Given the description of an element on the screen output the (x, y) to click on. 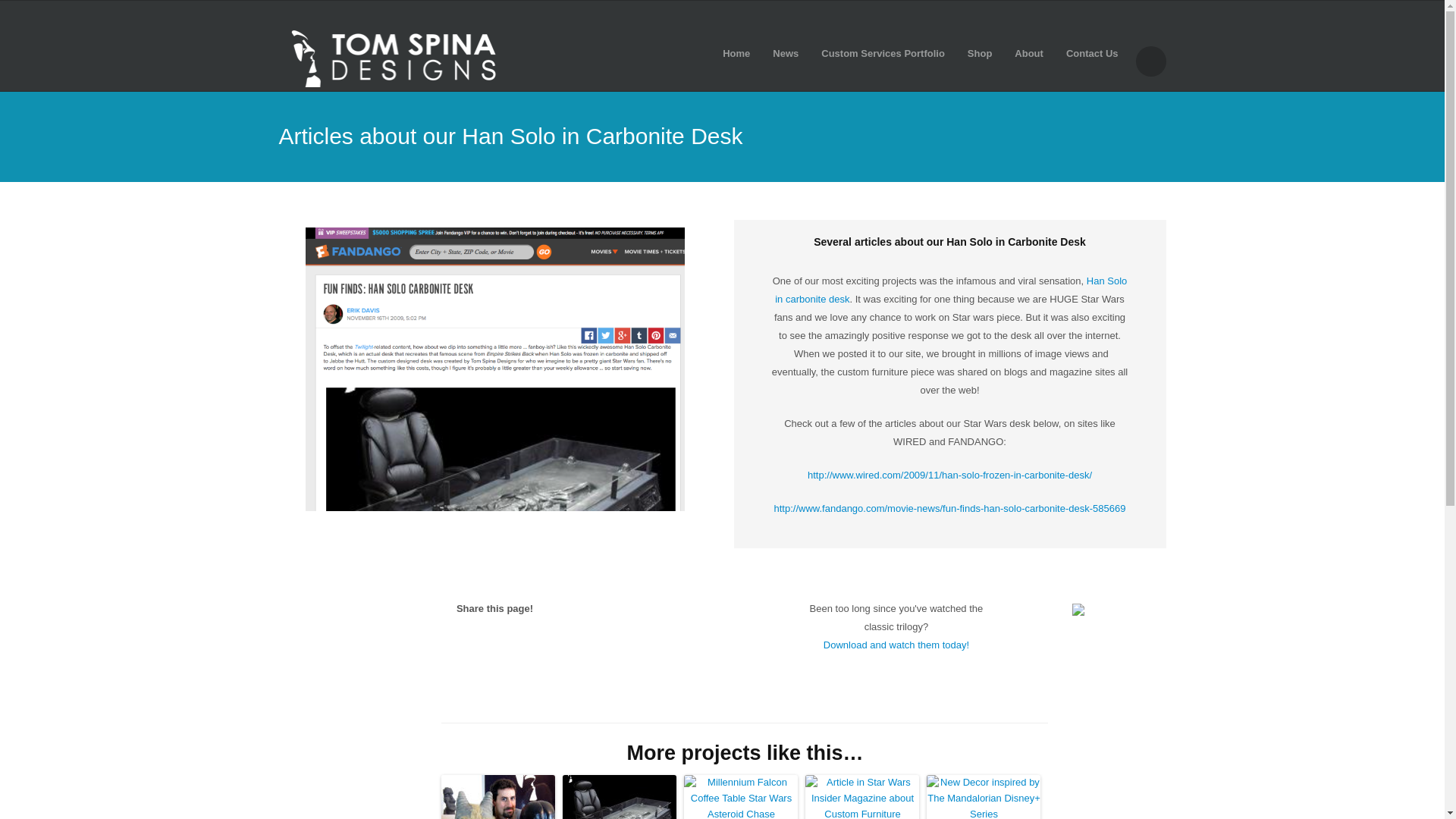
Contact Us (1091, 51)
Download and watch them today! (896, 644)
Custom Services Portfolio (882, 51)
Han Solo in carbonite desk (950, 289)
